Given the description of an element on the screen output the (x, y) to click on. 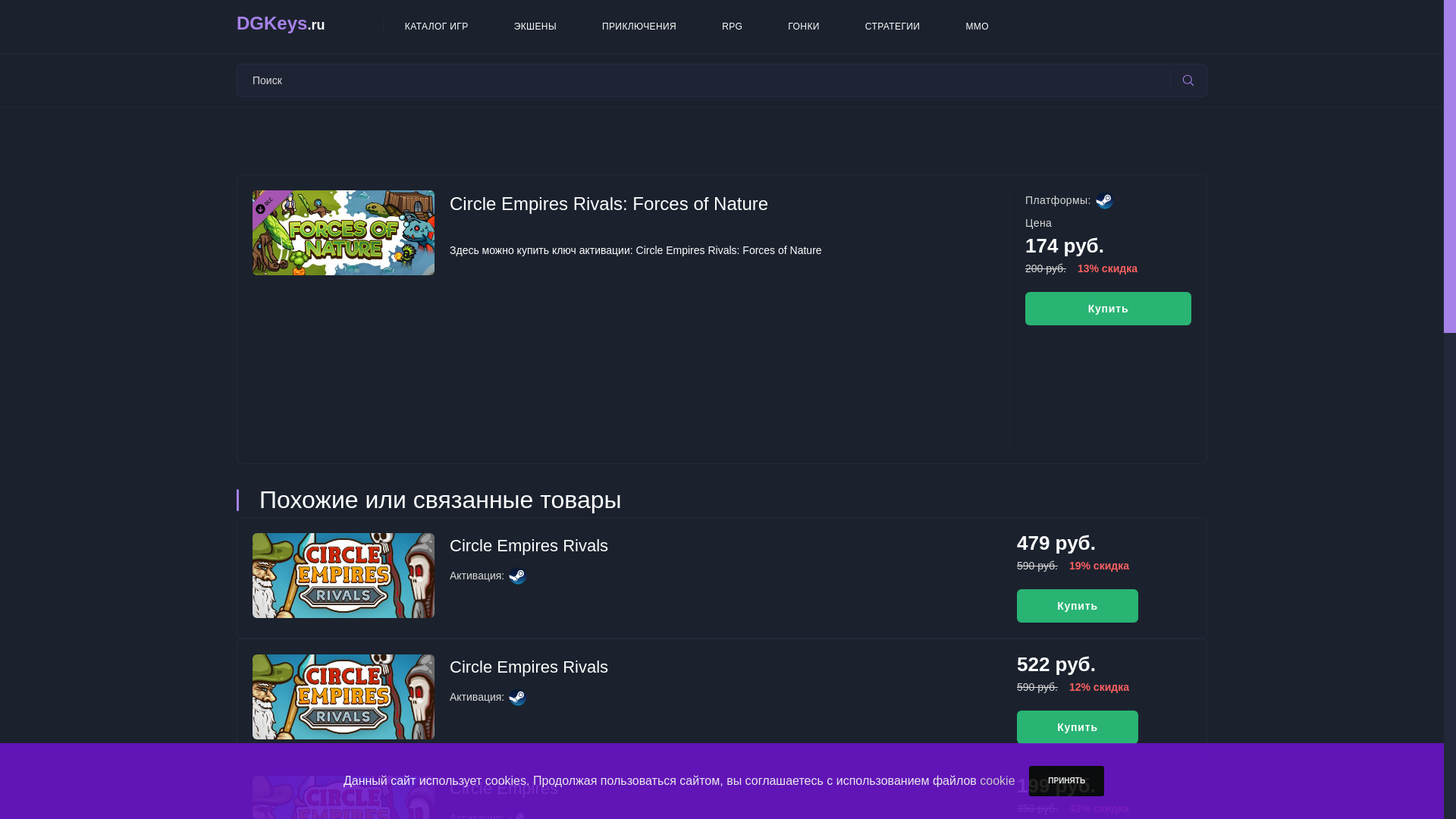
Circle Empires (503, 787)
RPG (732, 26)
DGKeys.ru (308, 26)
MMO (976, 26)
Circle Empires Rivals (528, 545)
Circle Empires Rivals (528, 666)
DGKeys.ru (308, 26)
